Given the description of an element on the screen output the (x, y) to click on. 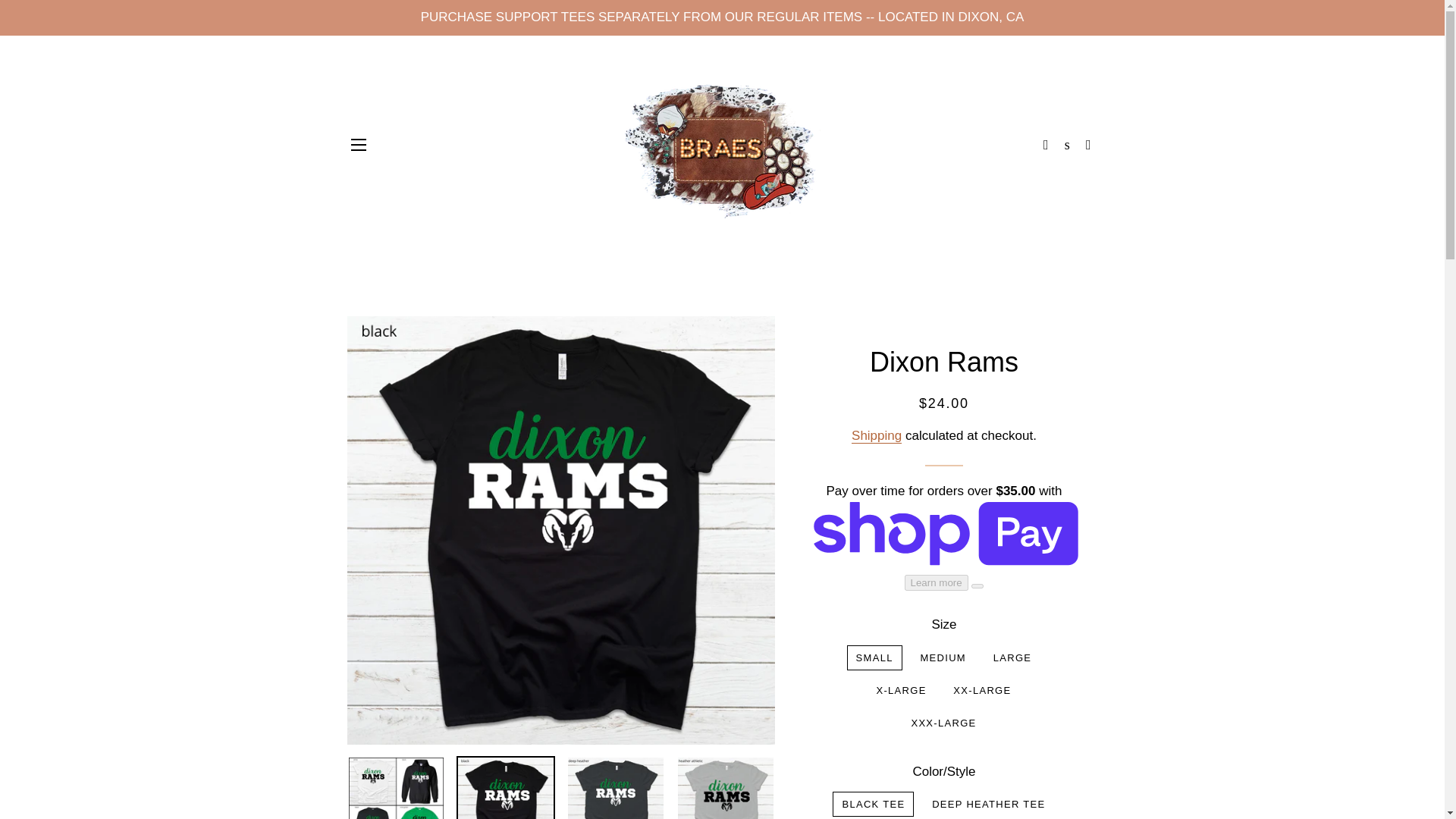
SITE NAVIGATION (358, 144)
